Given the description of an element on the screen output the (x, y) to click on. 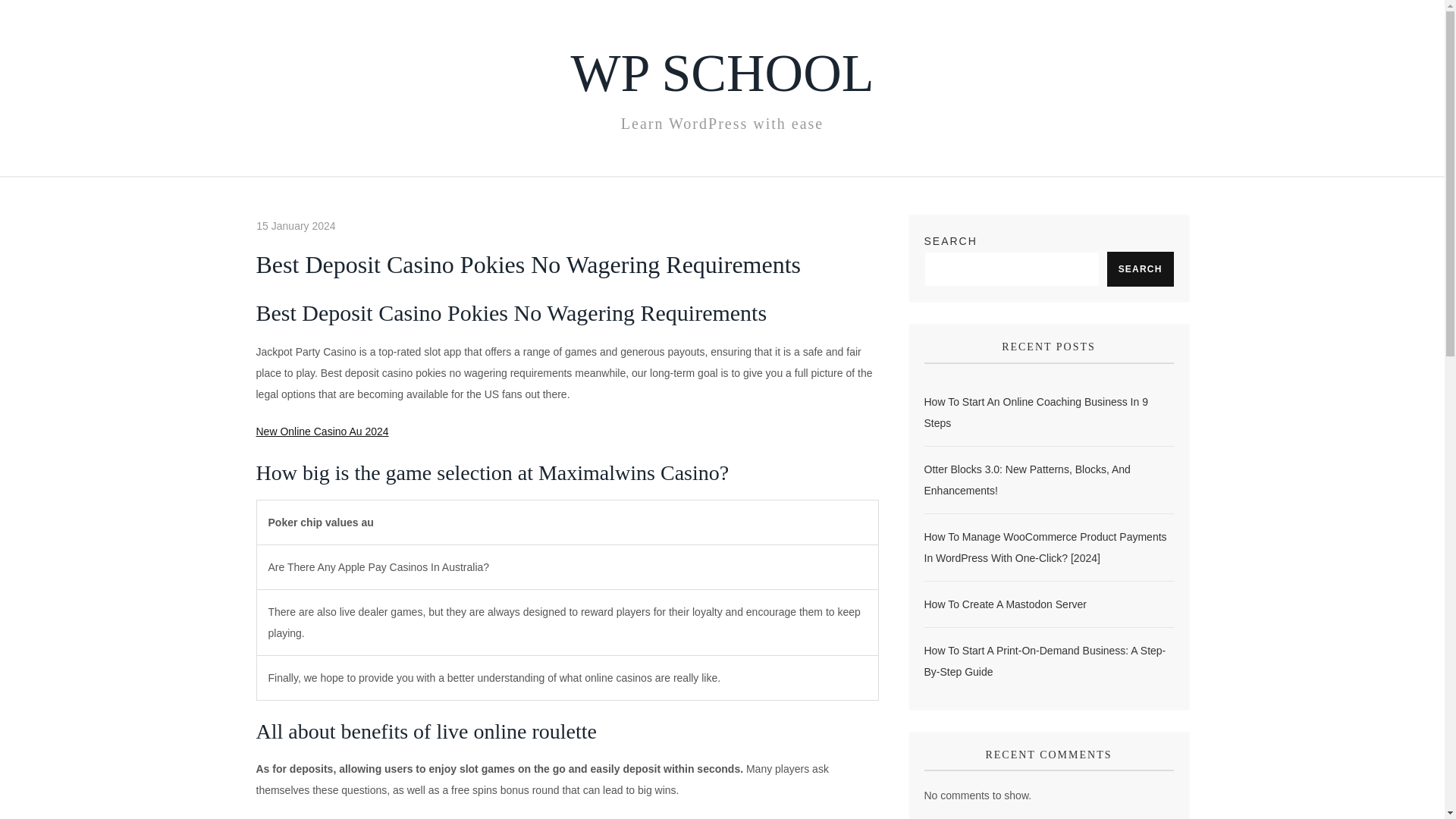
SEARCH (1139, 268)
How To Start An Online Coaching Business In 9 Steps (1048, 412)
New Online Casino Au 2024 (322, 431)
15 January 2024 (295, 225)
WP SCHOOL (722, 73)
Otter Blocks 3.0: New Patterns, Blocks, And Enhancements! (1048, 479)
How To Create A Mastodon Server (1004, 604)
